Given the description of an element on the screen output the (x, y) to click on. 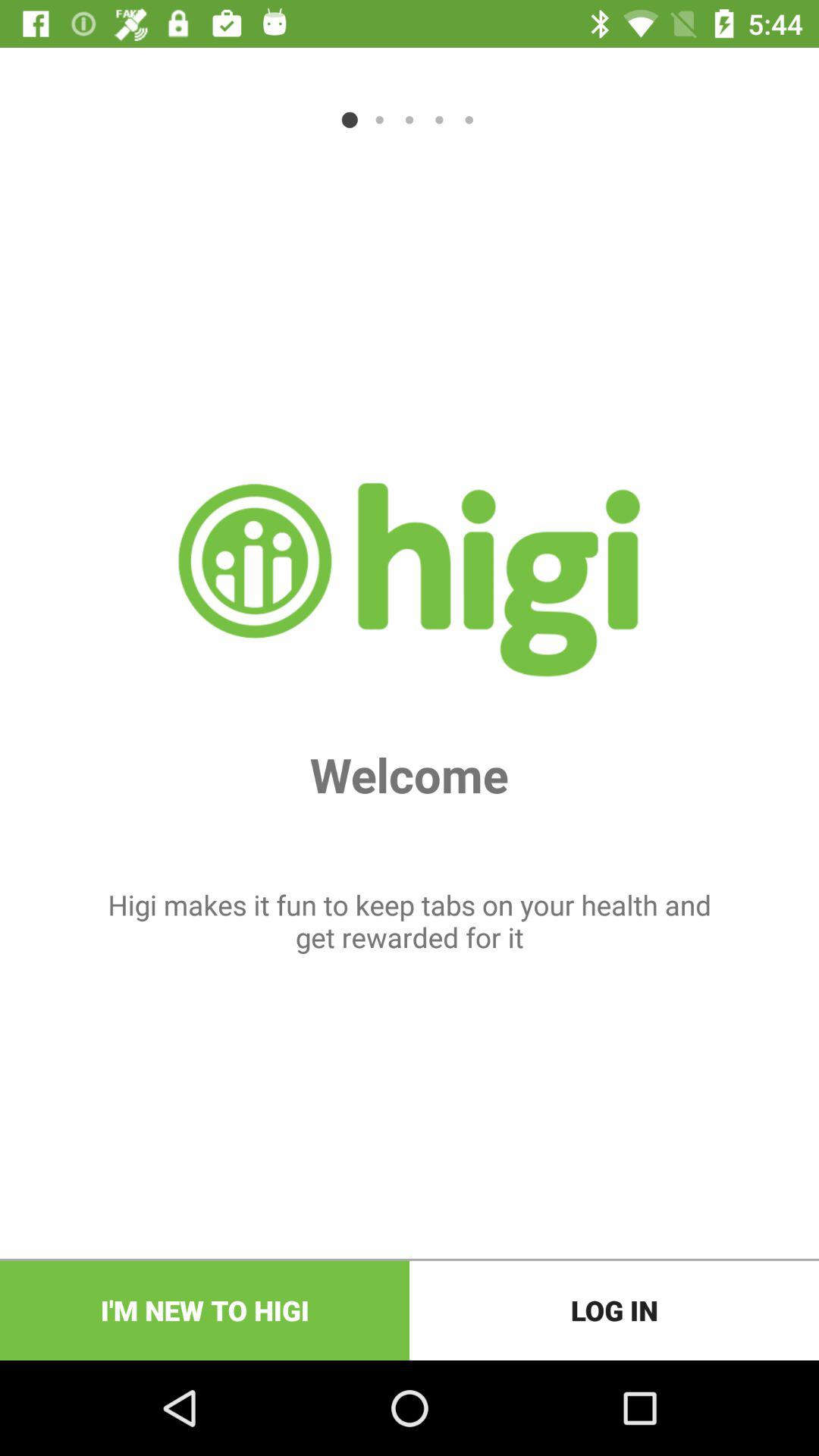
turn on the i m new at the bottom left corner (204, 1310)
